Given the description of an element on the screen output the (x, y) to click on. 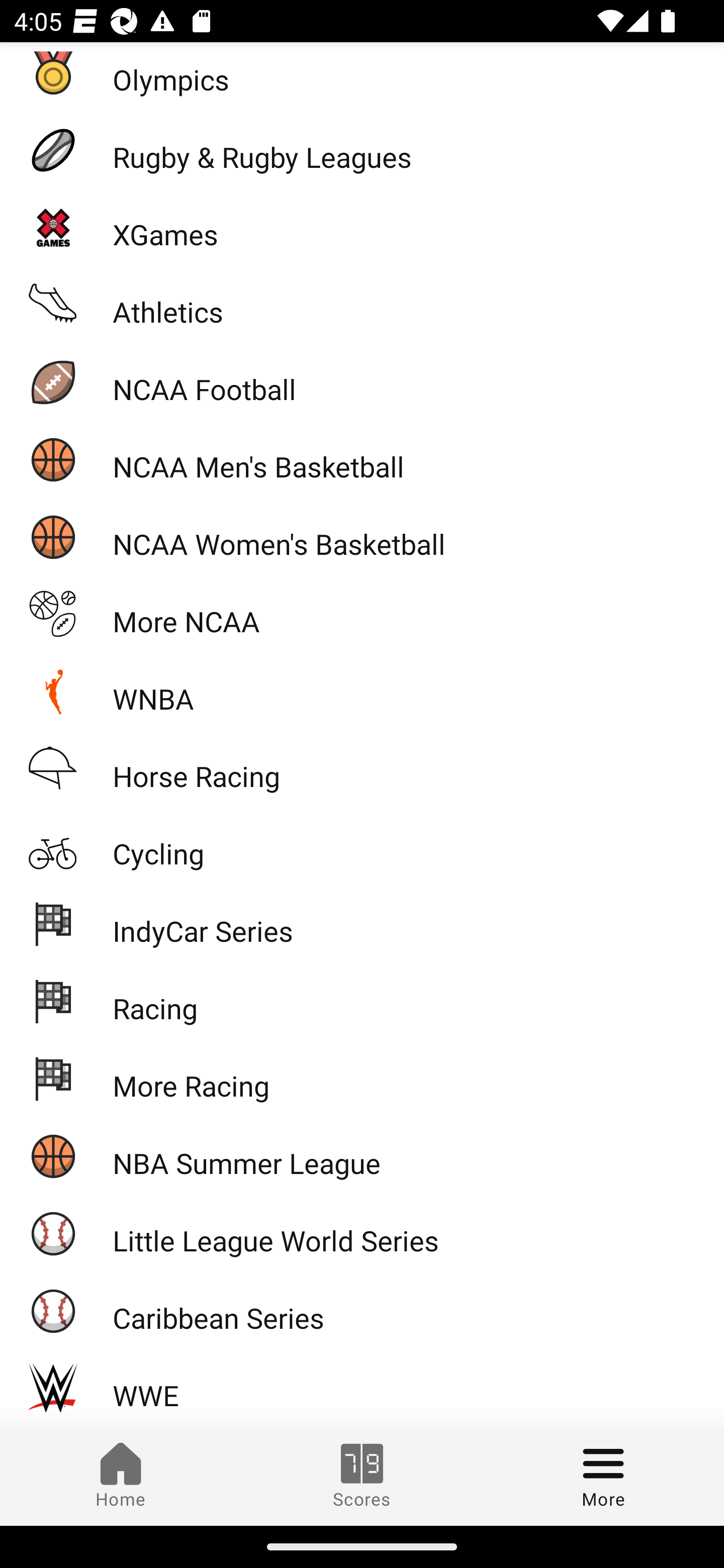
Olympics (362, 76)
Rugby & Rugby Leagues (362, 149)
XGames (362, 227)
Athletics ‹ Athletics (362, 304)
NCAA Football (362, 381)
NCAA Men's Basketball (362, 459)
NCAA Women's Basketball (362, 536)
More NCAA A More NCAA (362, 613)
WNBA (362, 691)
Horse Racing “ Horse Racing (362, 768)
Cycling  Cycling (362, 845)
IndyCar Series (362, 923)
Racing (362, 1000)
More Racing (362, 1077)
NBA Summer League (362, 1155)
Little League World Series (362, 1232)
Caribbean Series (362, 1310)
WWE (362, 1388)
Home (120, 1475)
Scores (361, 1475)
